Given the description of an element on the screen output the (x, y) to click on. 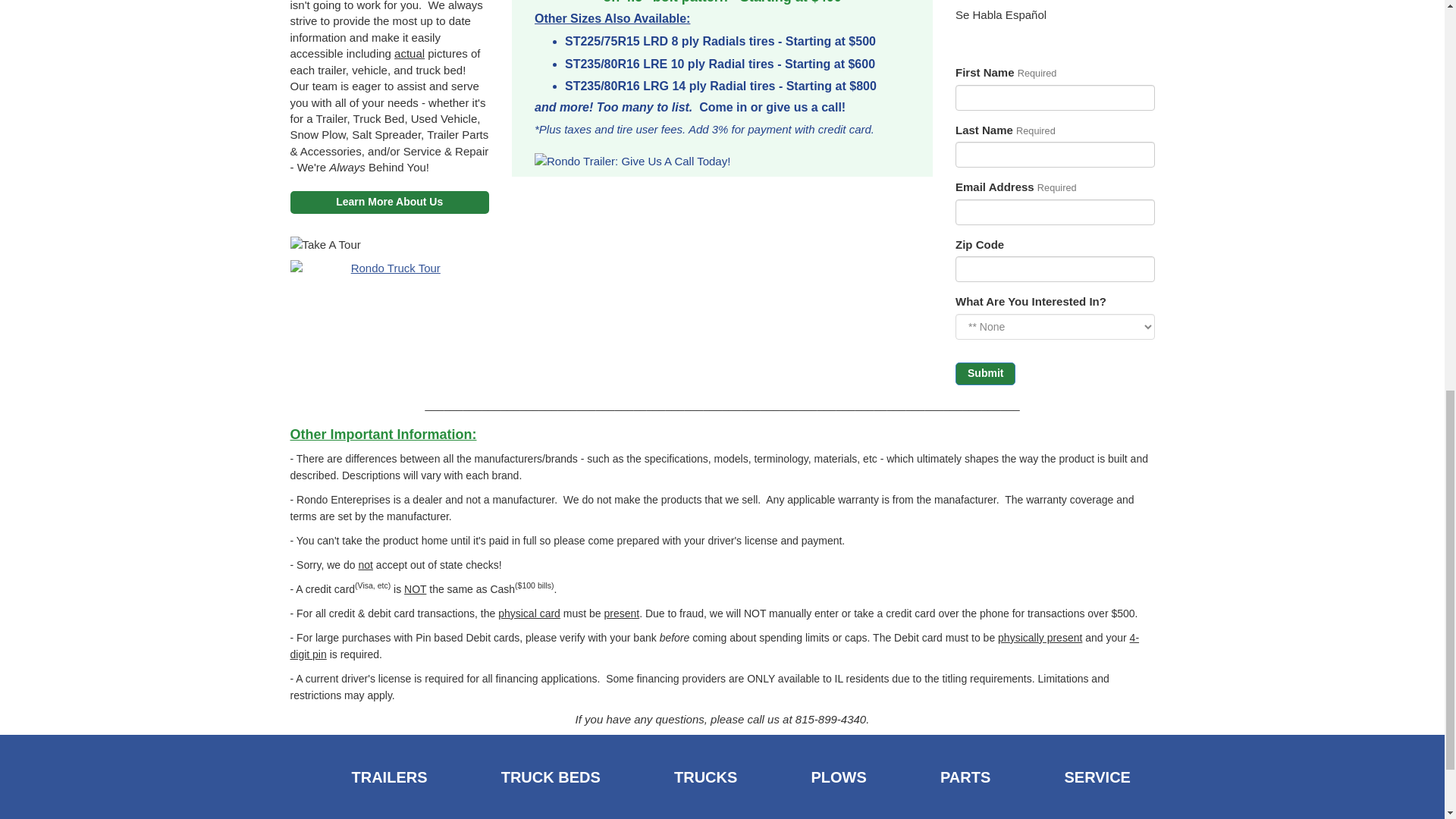
Learn More About Us (389, 201)
Trucks (678, 777)
Rondo Trailer: Give Us A Call Today! (722, 160)
Truck Beds (524, 777)
Open Rondo Trailer Video (389, 268)
Trailers (362, 777)
Take A Tour (389, 244)
